Given the description of an element on the screen output the (x, y) to click on. 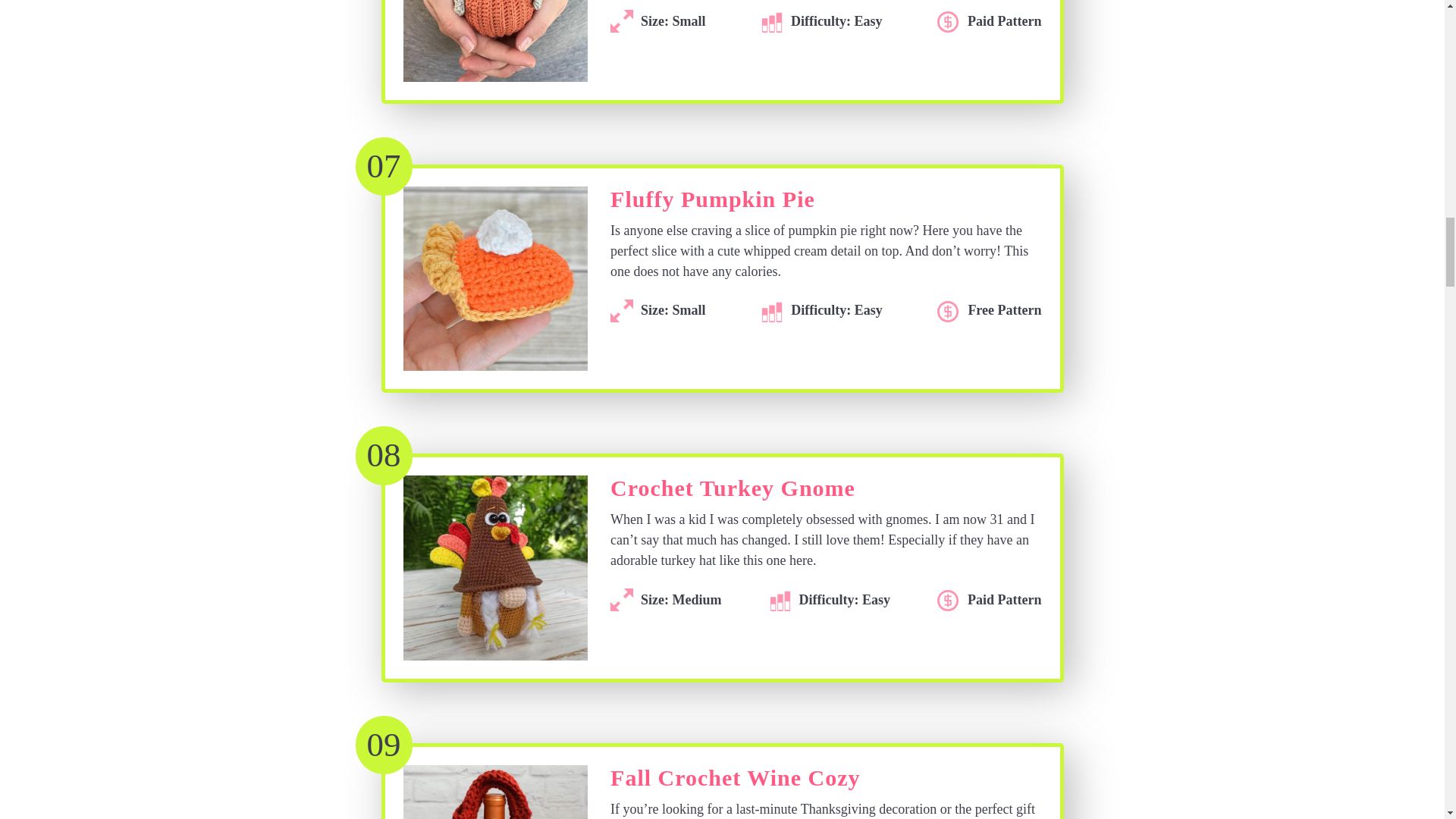
Fall Crochet Wine Cozy (735, 781)
Fluffy Pumpkin Pie (712, 203)
Crochet Turkey Gnome (733, 492)
